Given the description of an element on the screen output the (x, y) to click on. 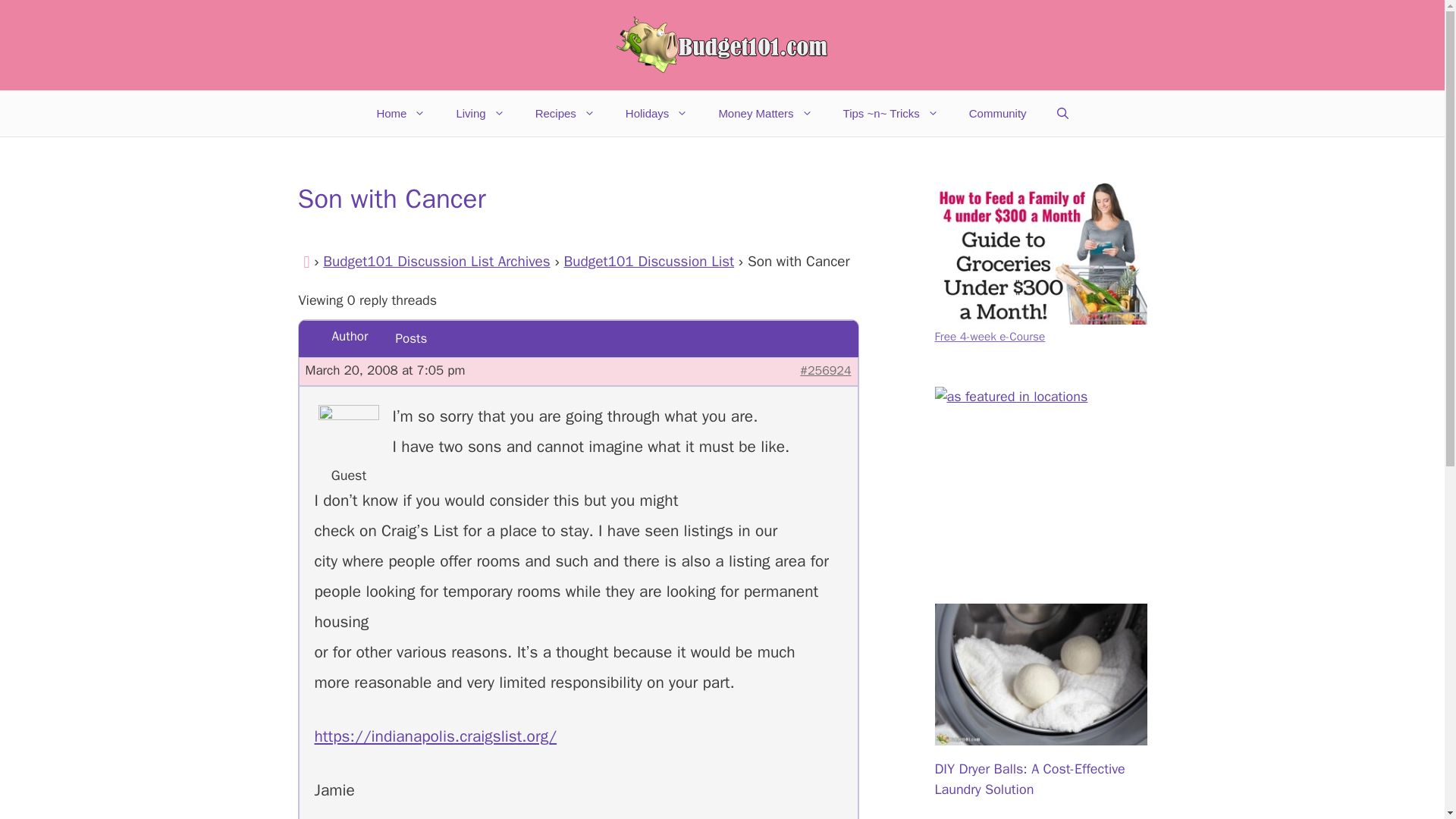
Recipes (564, 113)
Holidays (656, 113)
Living (480, 113)
Budget101 (721, 45)
Home (401, 113)
DIY Dryer Balls: A Cost-Effective Laundry Solution (1040, 734)
guide to groceries 300m sidebar (1040, 253)
Budget101 (721, 44)
b101 search button (1040, 457)
